Given the description of an element on the screen output the (x, y) to click on. 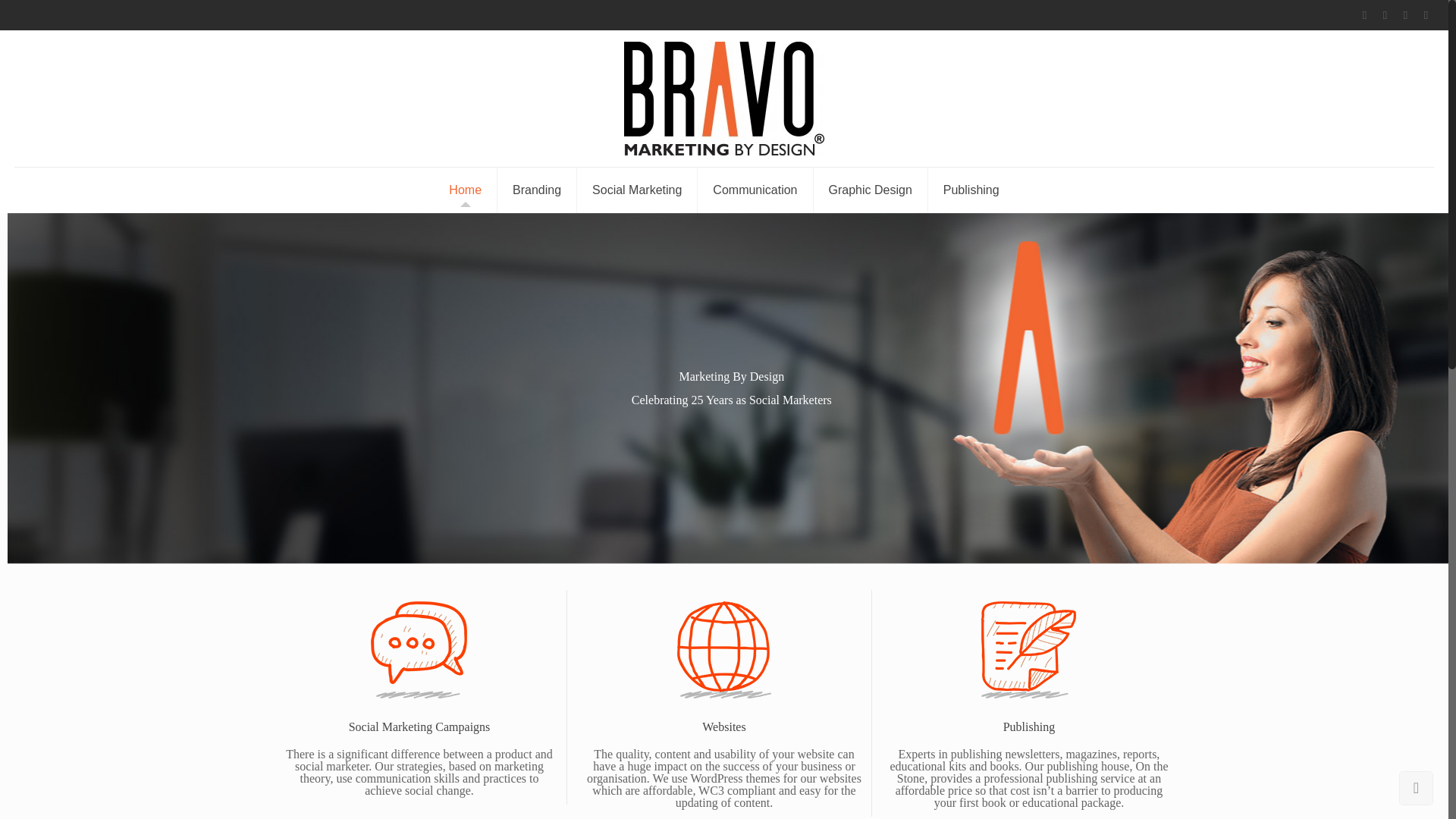
Publishing (971, 189)
Graphic Design (870, 189)
Facebook (1364, 15)
Bravo Marketing (724, 98)
Communication (754, 189)
Social Marketing (636, 189)
LinkedIn (1426, 15)
Home (465, 189)
Twitter (1405, 15)
Branding (536, 189)
